Given the description of an element on the screen output the (x, y) to click on. 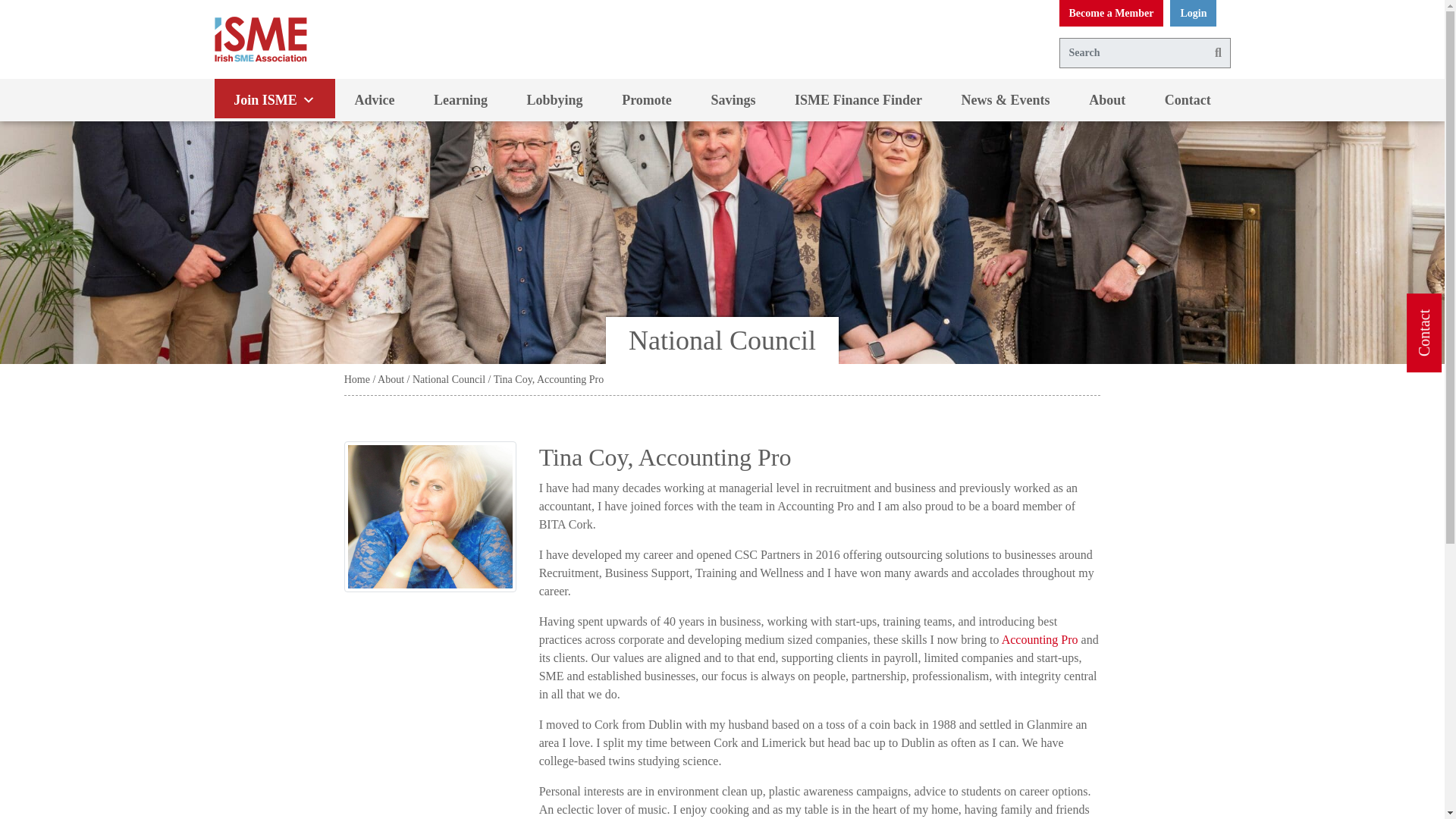
Advice (374, 99)
Become a Member (1110, 13)
Savings (733, 99)
Promote (646, 99)
Lobbying (554, 99)
Login (1192, 13)
Join ISME (274, 99)
About (1106, 99)
Learning (459, 99)
ISME Finance Finder (858, 99)
